Given the description of an element on the screen output the (x, y) to click on. 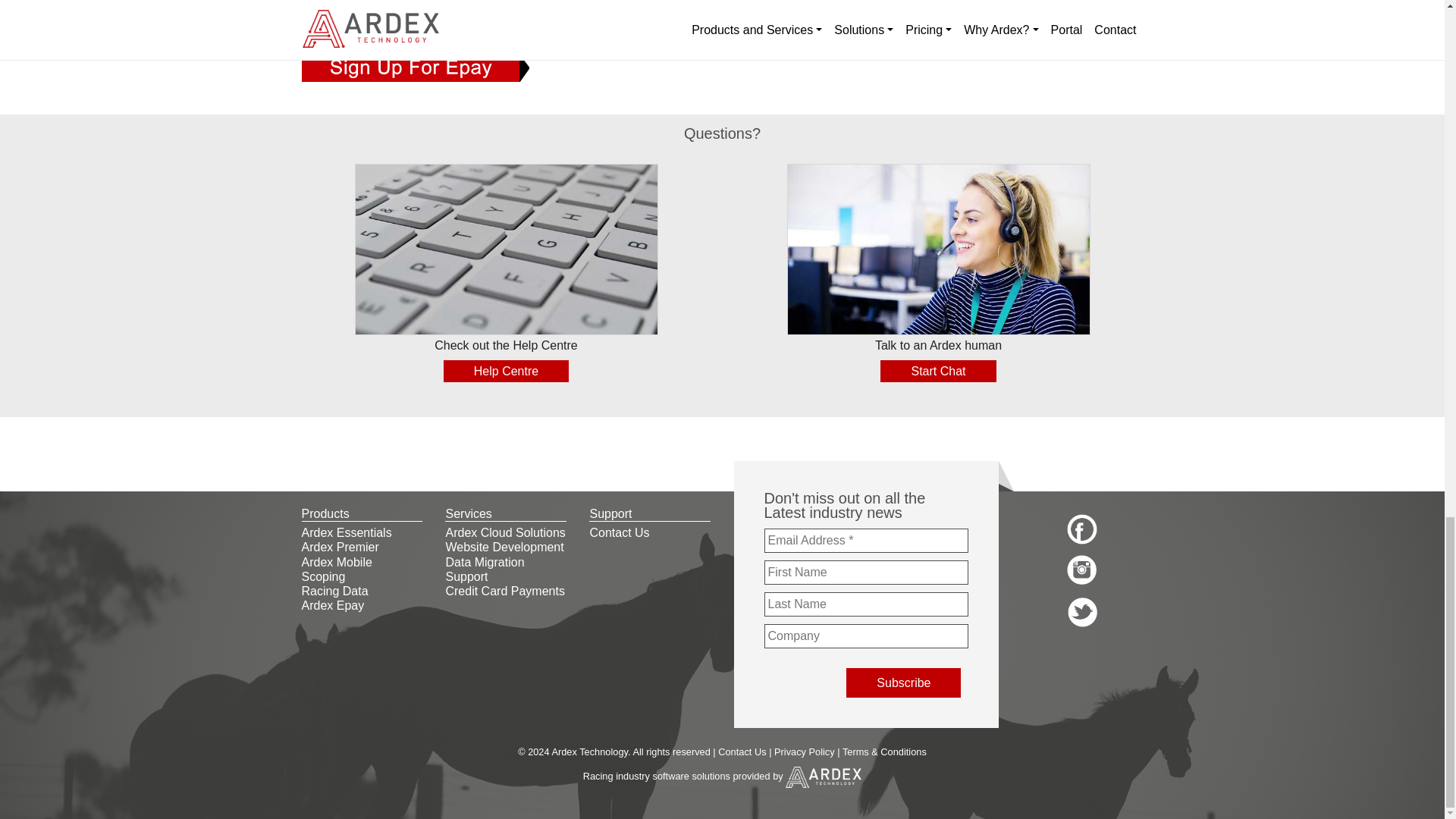
Ardex Mobile (336, 562)
Subscribe (902, 682)
Help Centre (506, 371)
Ardex Premier (339, 546)
Start Chat (937, 371)
Ardex Essentials (346, 532)
